Given the description of an element on the screen output the (x, y) to click on. 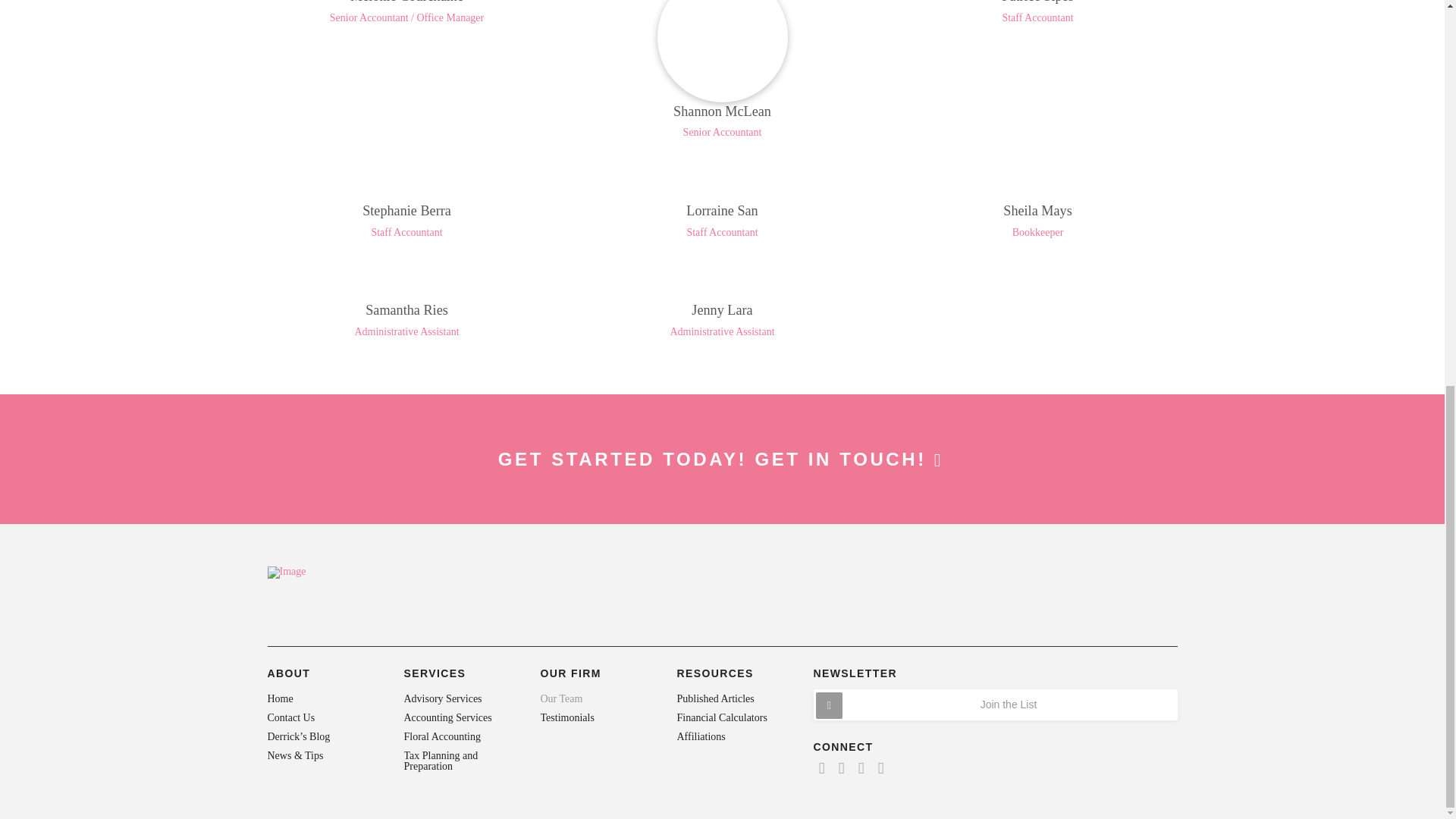
Published Articles (734, 698)
Tax Planning and Preparation (460, 761)
Accounting Services (460, 717)
Affiliations (734, 737)
Home (323, 698)
Advisory Services (460, 698)
Floral Accounting (460, 737)
Contact Us (323, 717)
Testimonials (597, 717)
Financial Calculators (734, 717)
